Given the description of an element on the screen output the (x, y) to click on. 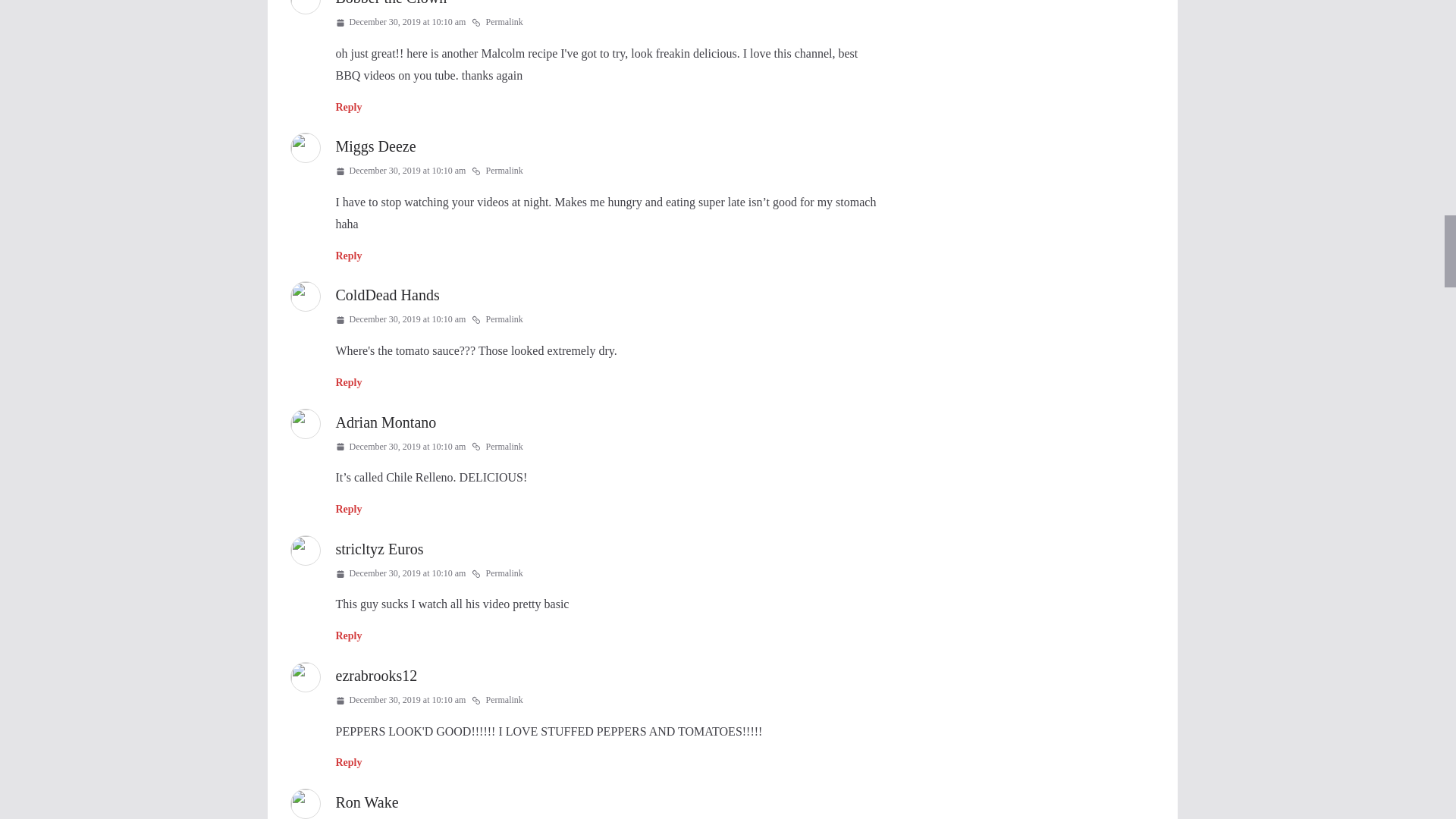
Permalink (496, 22)
Miggs Deeze (374, 146)
Permalink (496, 170)
Reply (347, 107)
Bobber the Clown (390, 2)
